Given the description of an element on the screen output the (x, y) to click on. 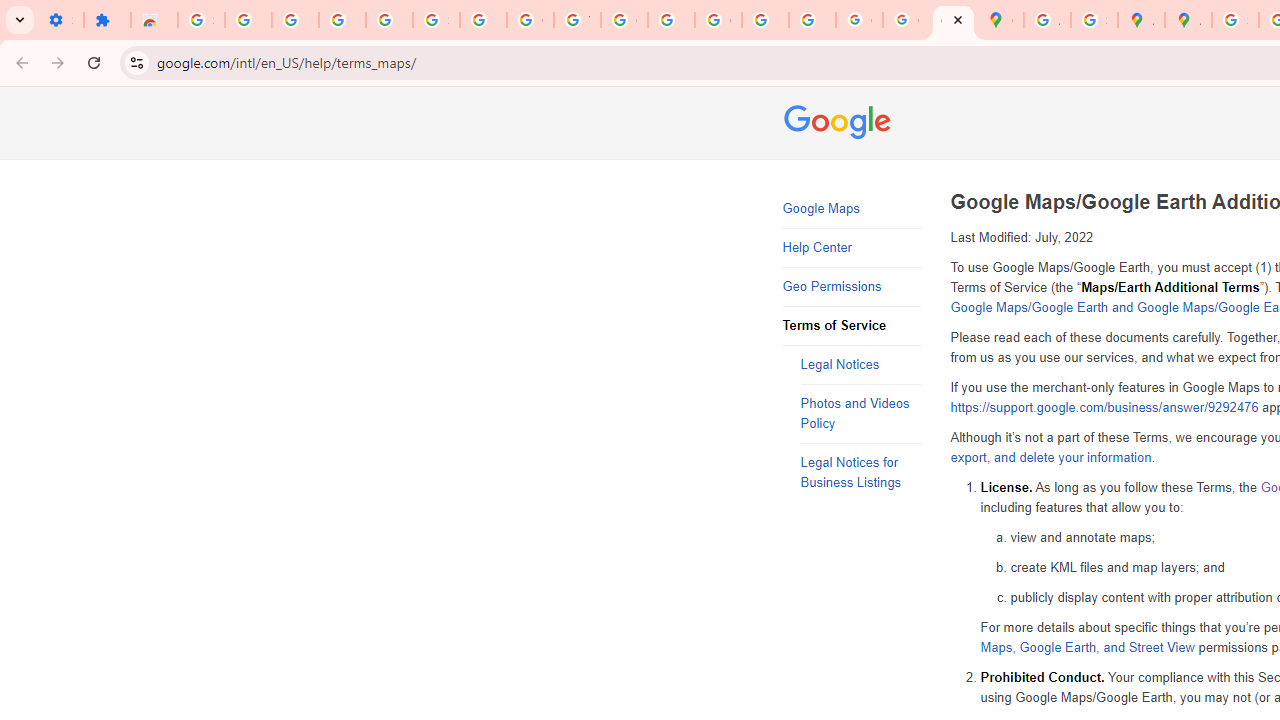
Google Maps (999, 20)
Google Account (530, 20)
Sign in - Google Accounts (201, 20)
Delete photos & videos - Computer - Google Photos Help (294, 20)
